Given the description of an element on the screen output the (x, y) to click on. 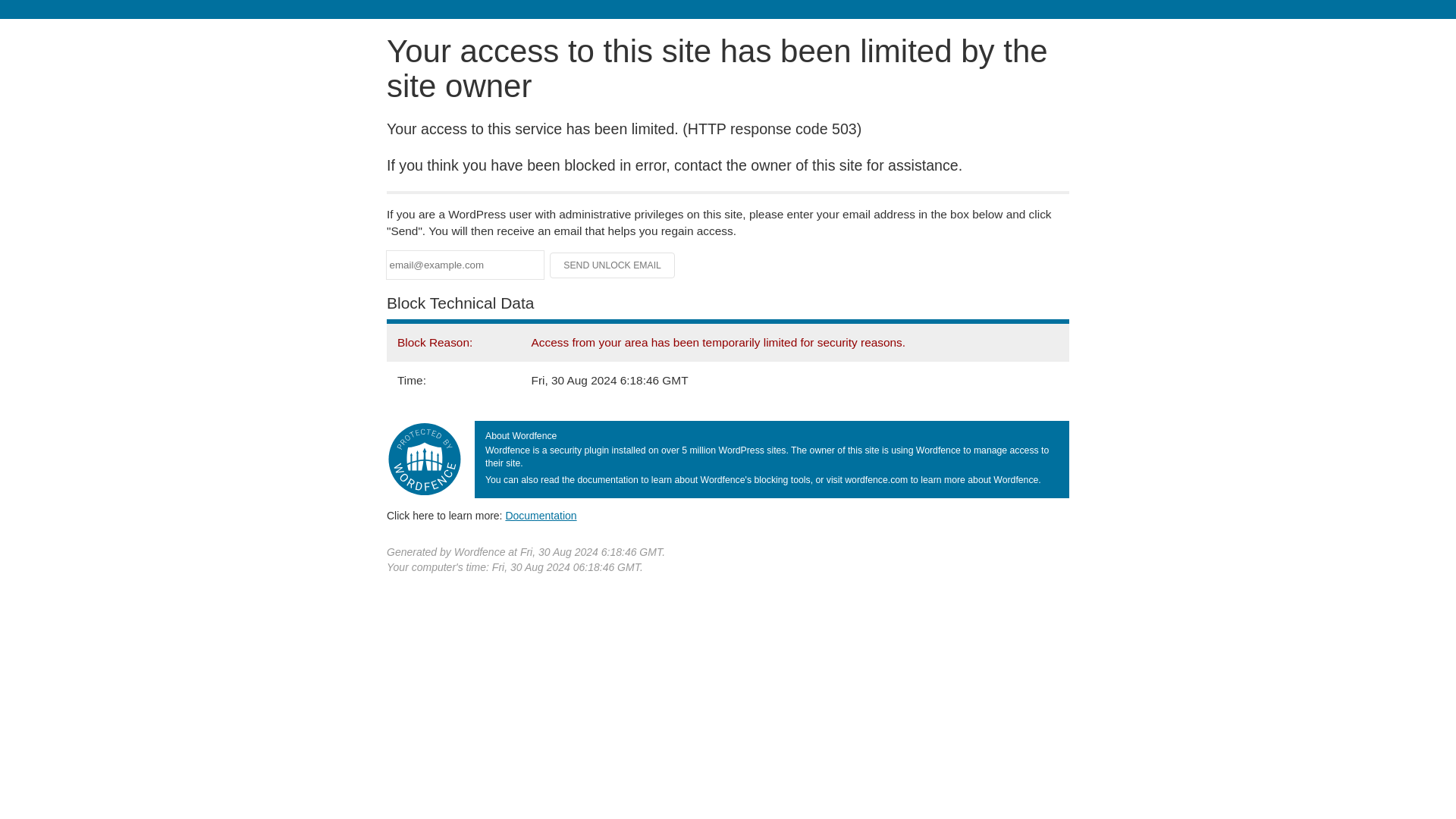
Send Unlock Email (612, 265)
Send Unlock Email (612, 265)
Documentation (540, 515)
